Given the description of an element on the screen output the (x, y) to click on. 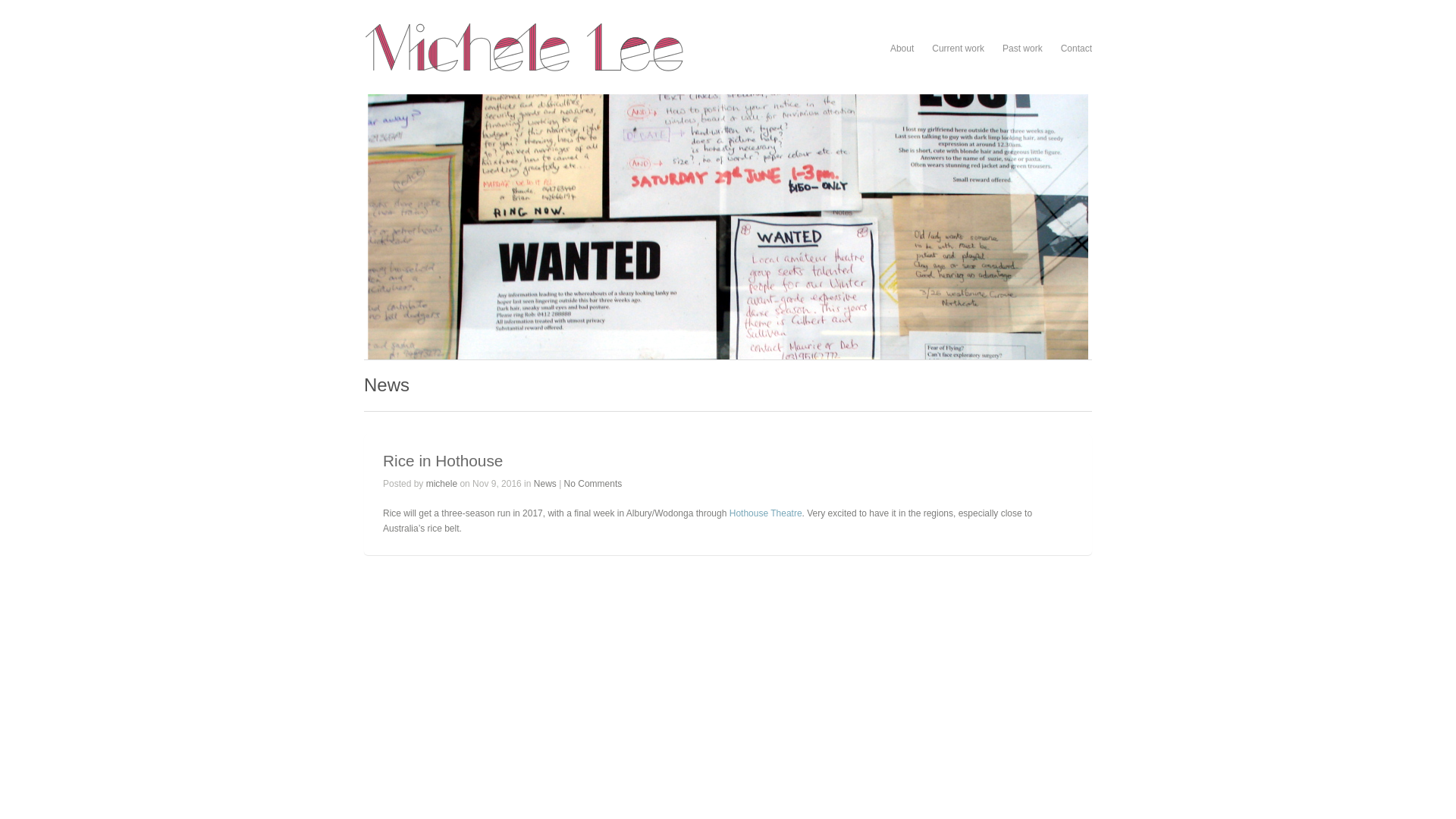
Current work Element type: text (957, 48)
About Element type: text (901, 48)
michele Element type: text (441, 483)
Hothouse Theatre Element type: text (765, 513)
No Comments Element type: text (593, 483)
Contact Element type: text (1076, 48)
Past work Element type: text (1022, 48)
News Element type: text (544, 483)
news.jpg Element type: hover (727, 226)
Rice in Hothouse Element type: text (442, 460)
